Given the description of an element on the screen output the (x, y) to click on. 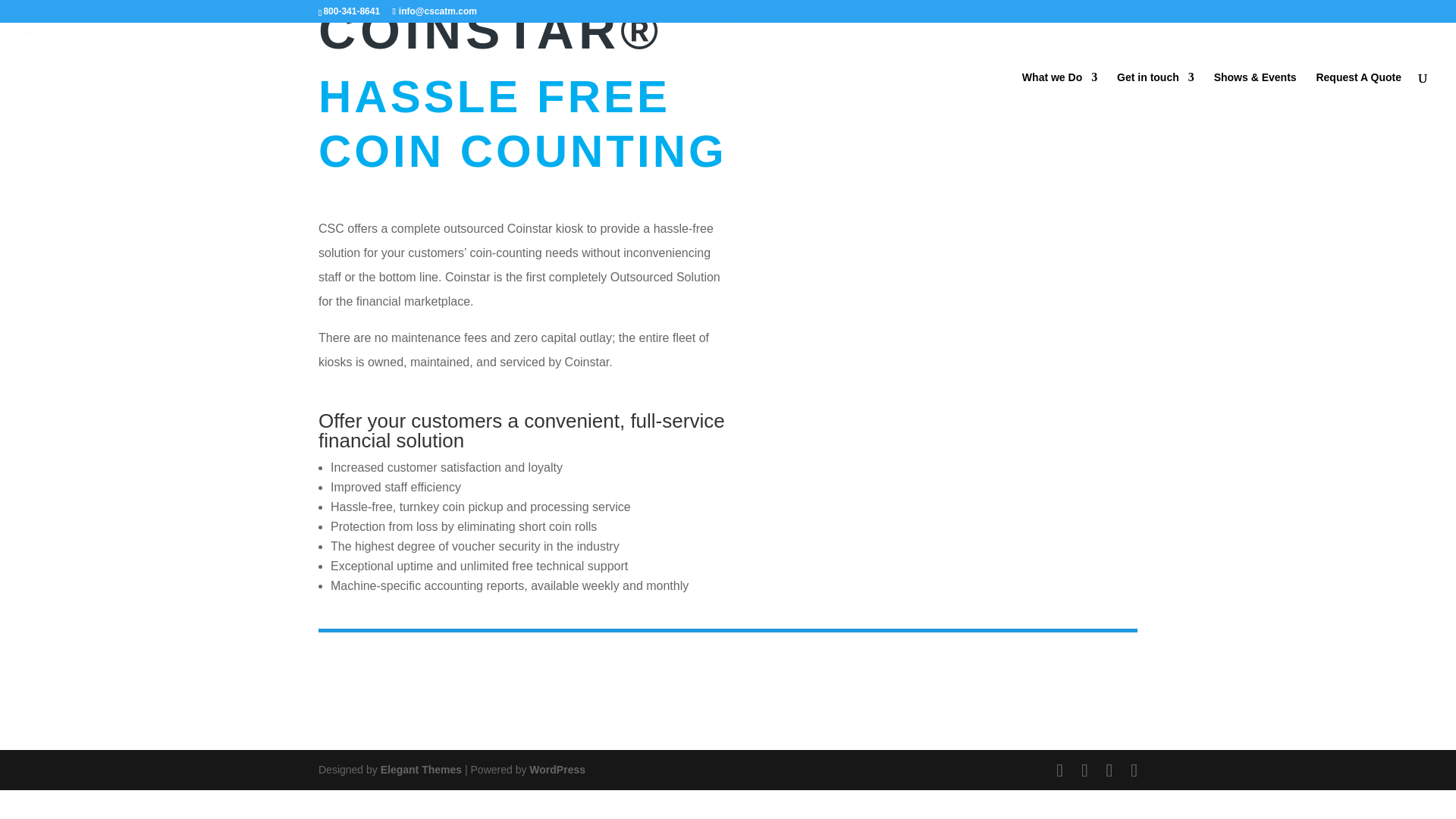
Get in touch (1154, 101)
Premium WordPress Themes (420, 769)
WordPress (557, 769)
Request A Quote (1358, 101)
What we Do (1059, 101)
Elegant Themes (420, 769)
